Given the description of an element on the screen output the (x, y) to click on. 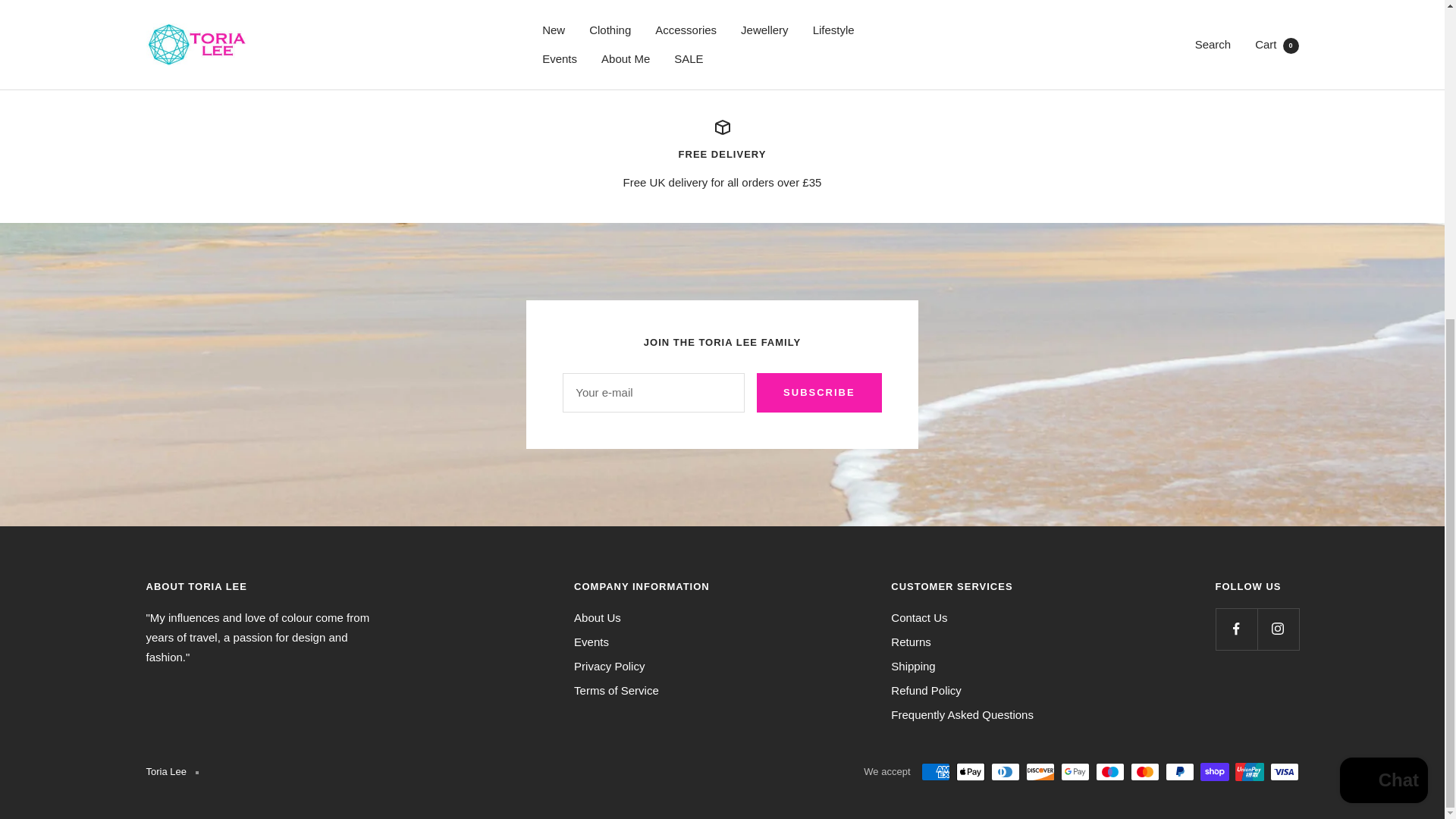
Privacy Policy (609, 666)
Shipping (912, 666)
SUBSCRIBE (819, 392)
Contact Us (919, 618)
Returns (911, 641)
Events (590, 641)
Refund Policy (925, 690)
Shopify online store chat (1383, 266)
Terms of Service (616, 690)
Frequently Asked Questions (962, 714)
